Given the description of an element on the screen output the (x, y) to click on. 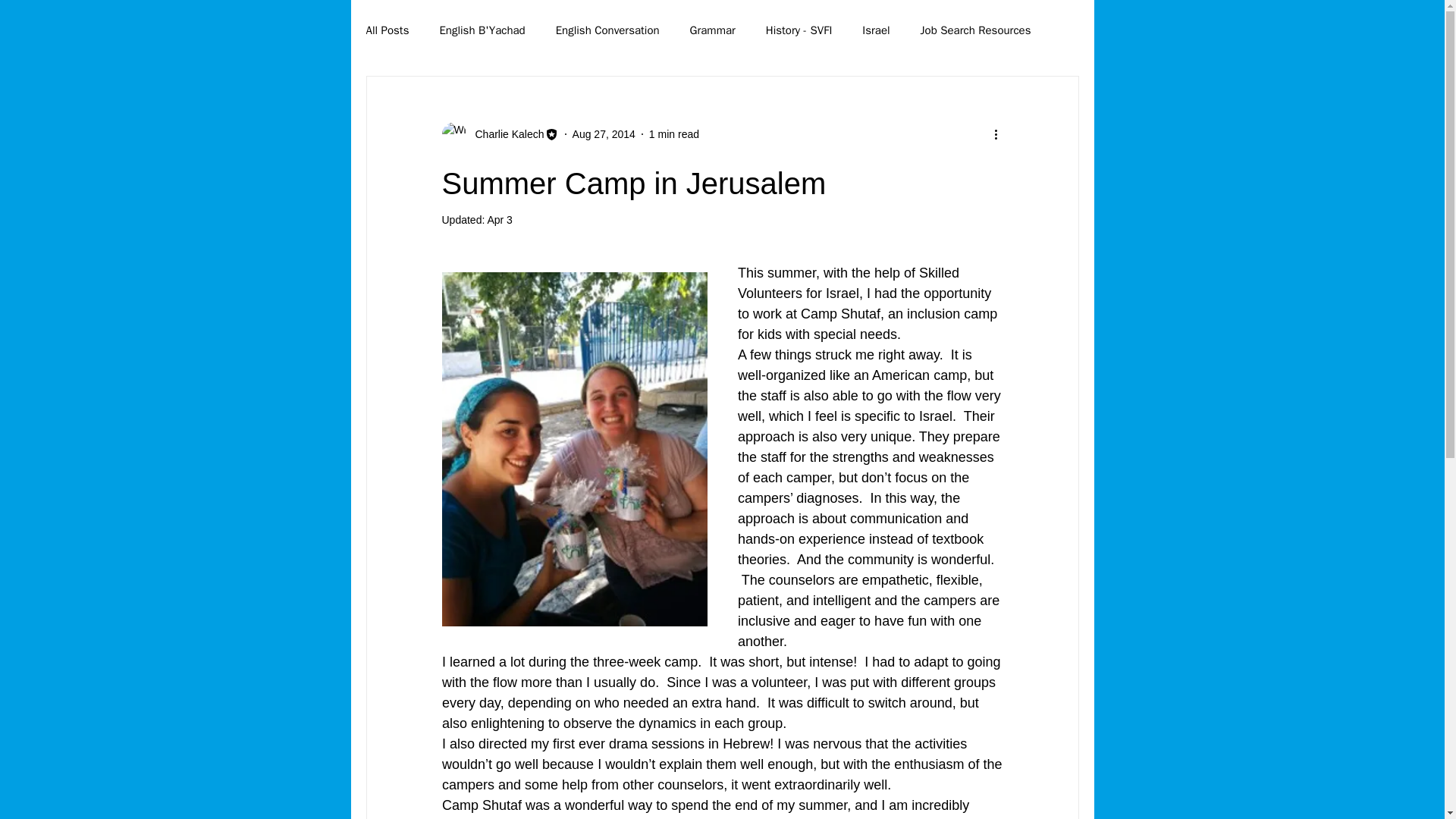
Grammar (712, 29)
Israel (875, 29)
Charlie Kalech (504, 133)
Apr 3 (499, 219)
1 min read (673, 133)
Job Search Resources (975, 29)
Aug 27, 2014 (603, 133)
All Posts (387, 29)
English B'Yachad (481, 29)
History - SVFI (798, 29)
English Conversation (607, 29)
Charlie Kalech (499, 134)
